Given the description of an element on the screen output the (x, y) to click on. 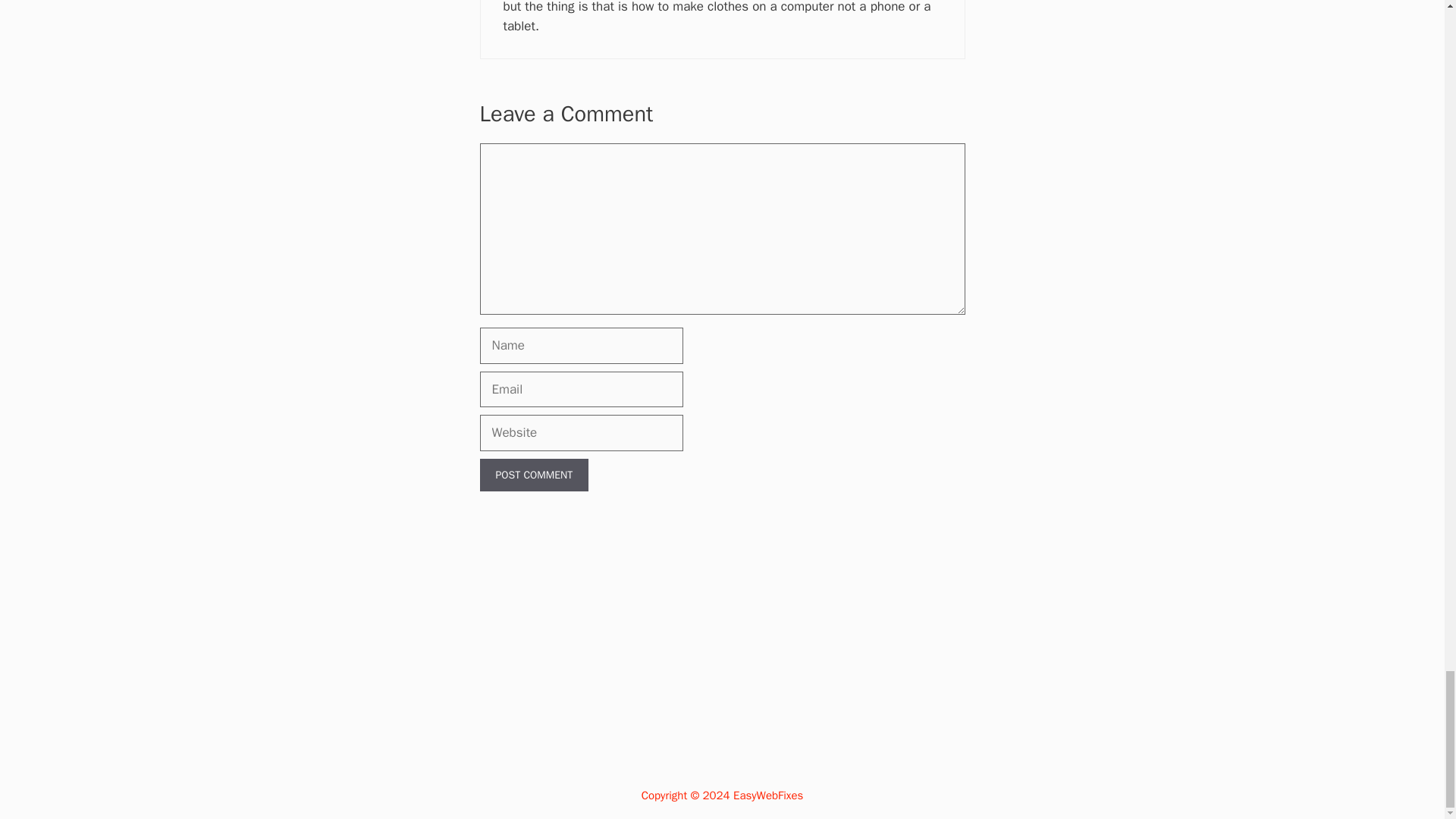
Post Comment (533, 474)
Post Comment (533, 474)
EasyWebFixes (768, 795)
